Given the description of an element on the screen output the (x, y) to click on. 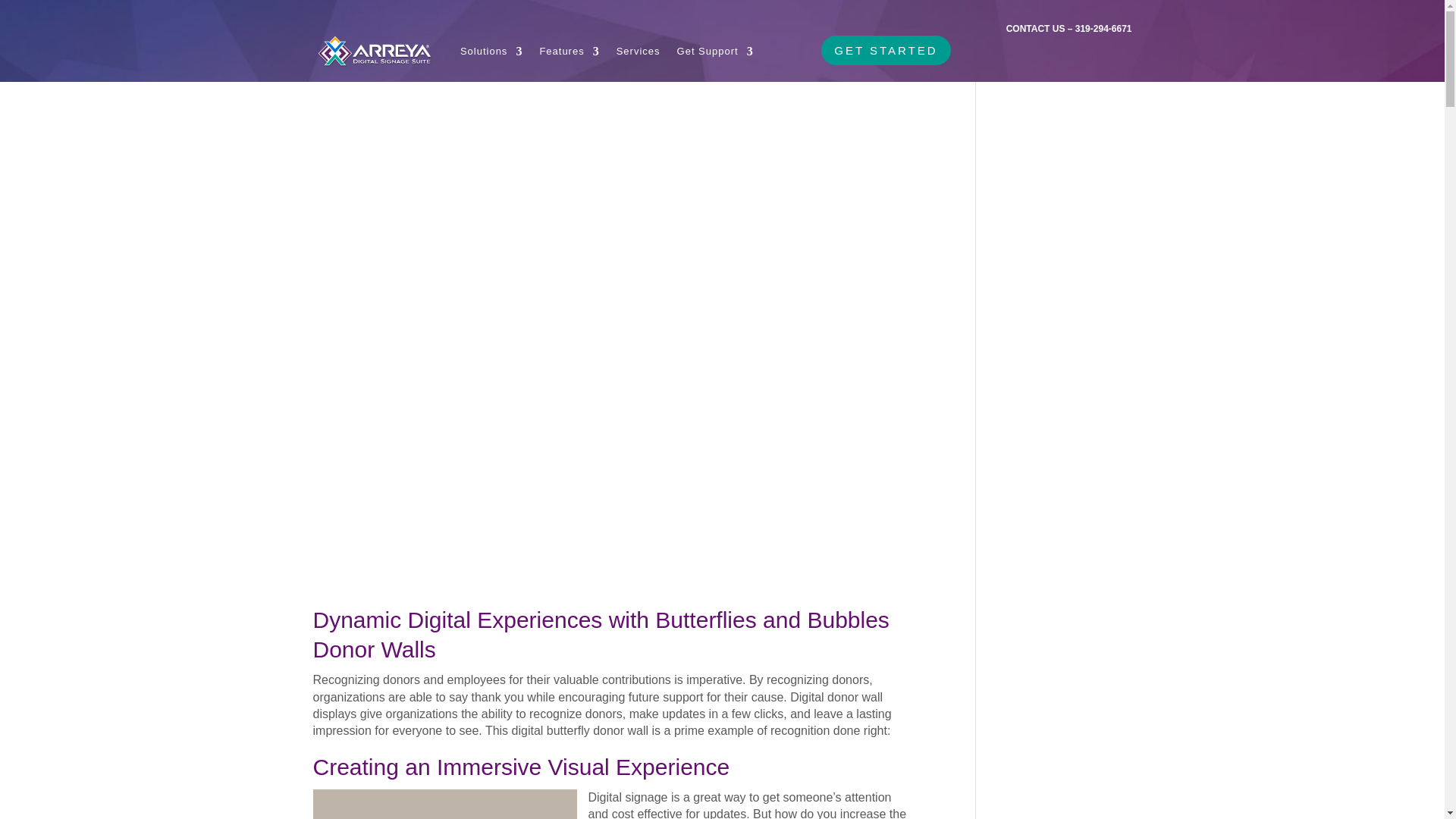
Get Support (715, 51)
Solutions (491, 51)
GET STARTED (885, 50)
319-294-6671 (1103, 28)
Features (568, 51)
